Given the description of an element on the screen output the (x, y) to click on. 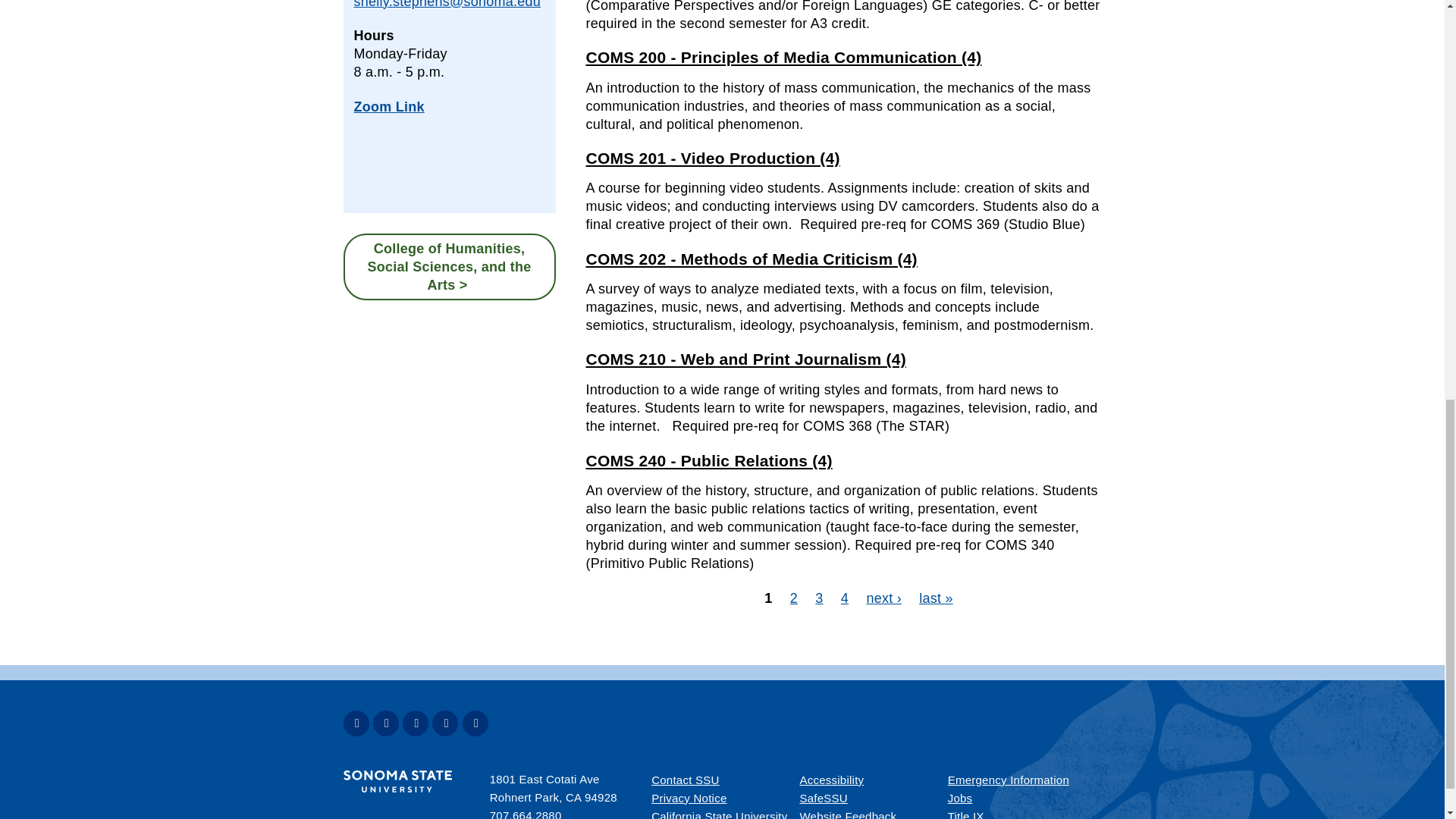
Go to last page (935, 598)
Go to next page (883, 598)
